Given the description of an element on the screen output the (x, y) to click on. 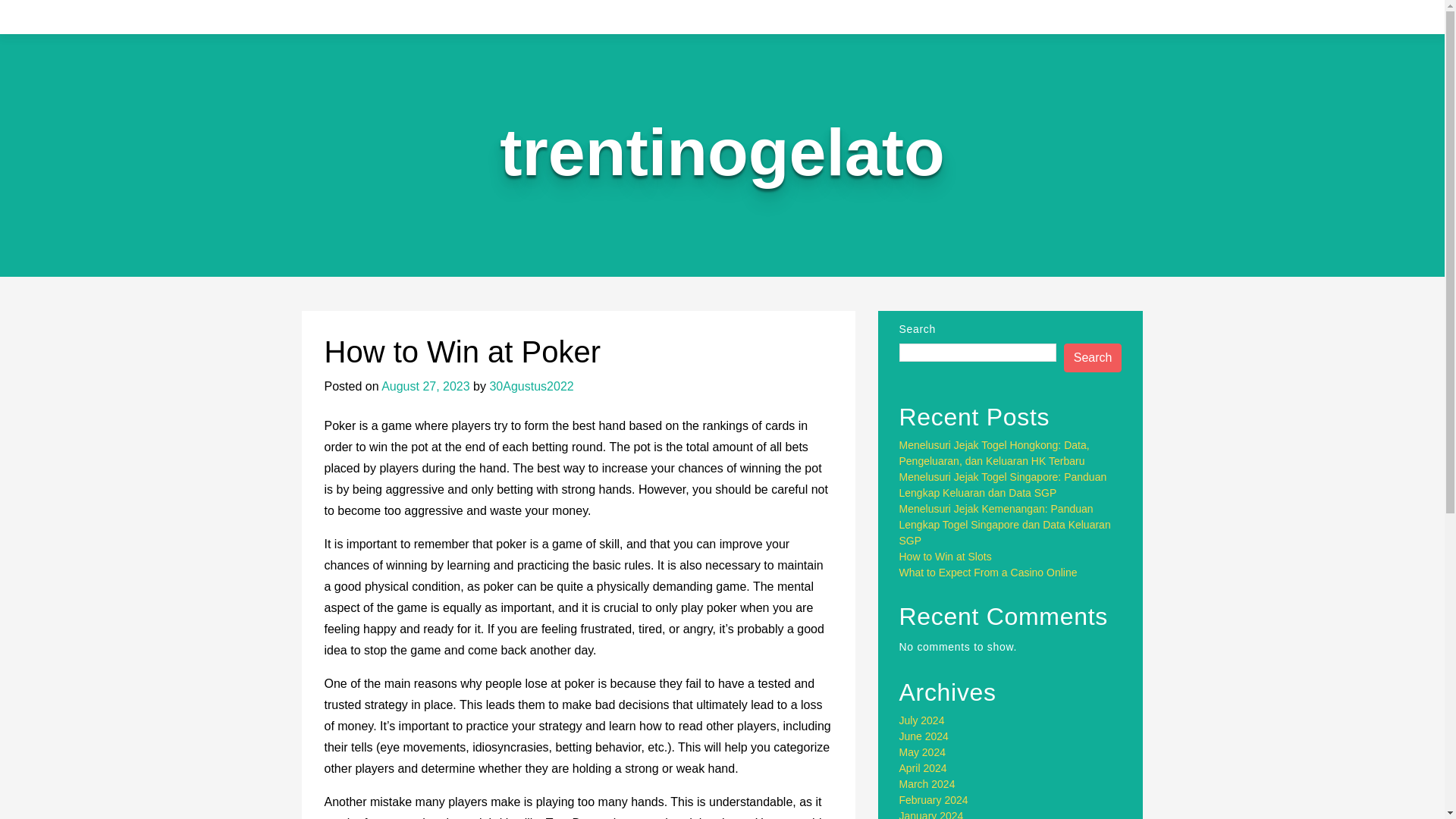
July 2024 (921, 720)
August 27, 2023 (425, 386)
January 2024 (931, 814)
March 2024 (927, 784)
What to Expect From a Casino Online (988, 572)
How to Win at Slots (945, 556)
Search (1093, 357)
April 2024 (923, 767)
30Agustus2022 (531, 386)
February 2024 (933, 799)
June 2024 (924, 736)
May 2024 (921, 752)
